Given the description of an element on the screen output the (x, y) to click on. 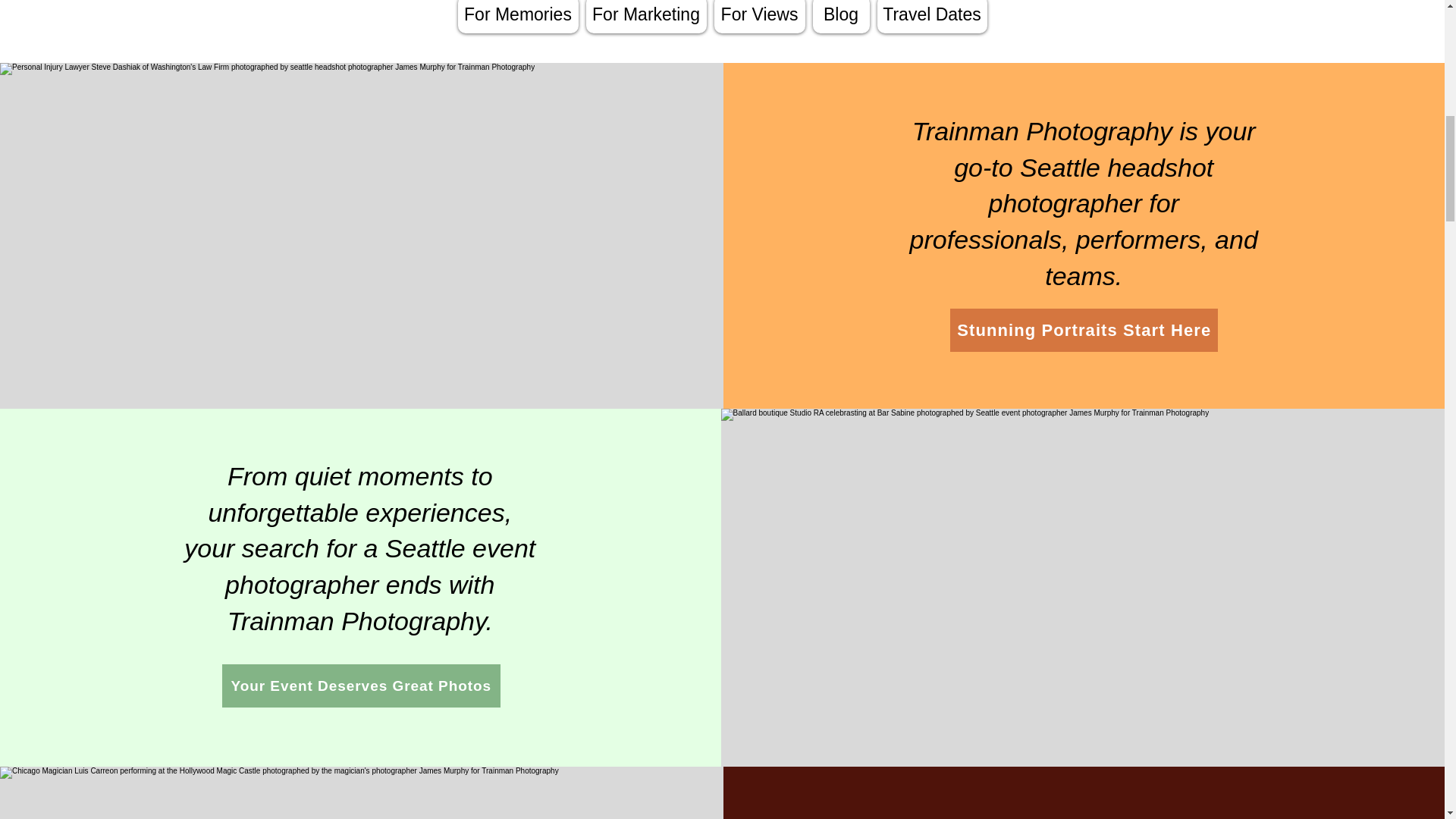
For Marketing (645, 16)
Blog (840, 16)
For Memories (518, 16)
Stunning Portraits Start Here (1083, 330)
Your Event Deserves Great Photos (361, 685)
Travel Dates (931, 16)
For Views (759, 16)
